Given the description of an element on the screen output the (x, y) to click on. 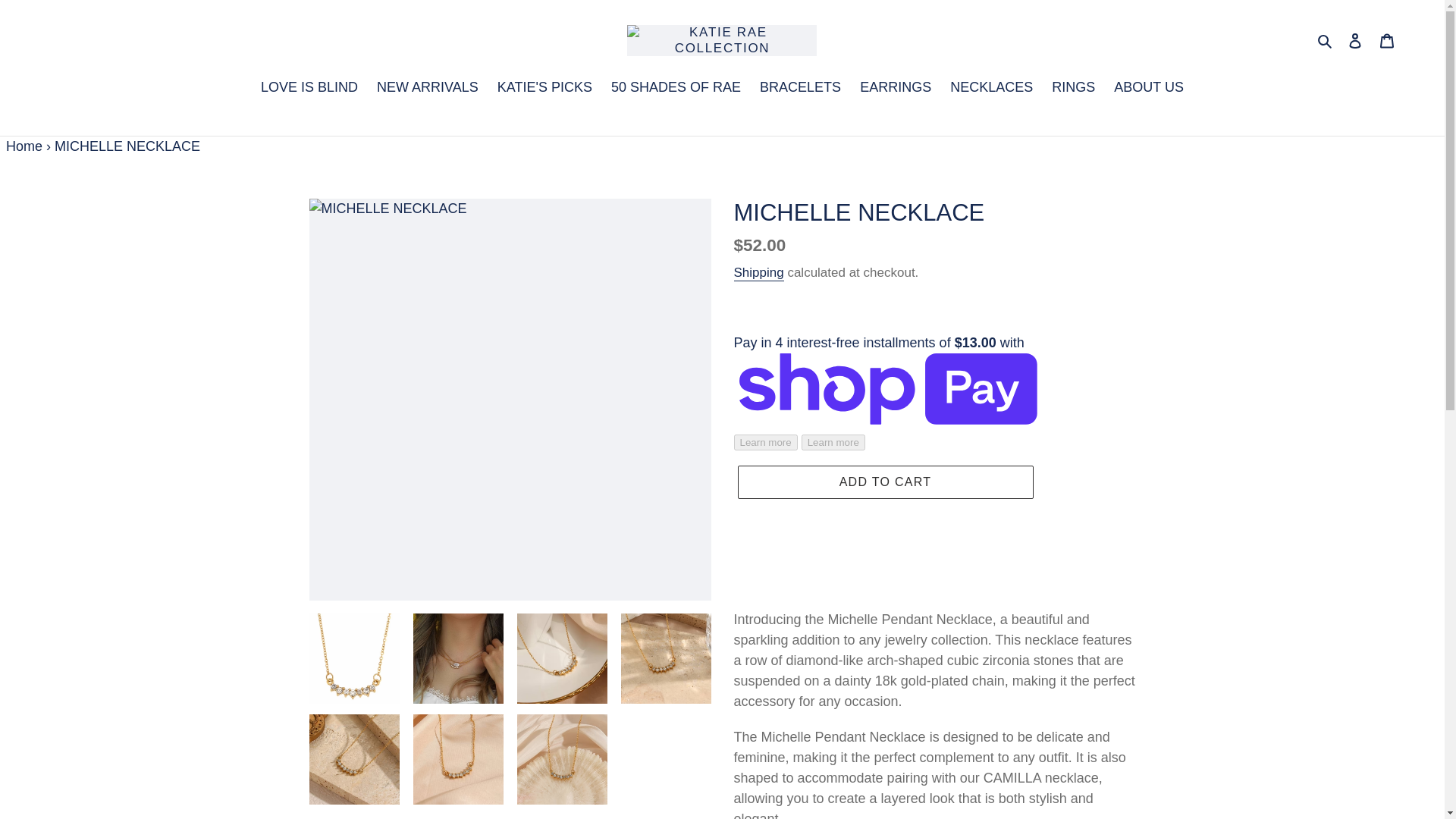
LOVE IS BLIND (309, 87)
Search (1326, 40)
EARRINGS (895, 87)
NECKLACES (991, 87)
Home (23, 145)
ABOUT US (1148, 87)
BRACELETS (800, 87)
Log in (1355, 40)
50 SHADES OF RAE (676, 87)
Home (23, 145)
